Given the description of an element on the screen output the (x, y) to click on. 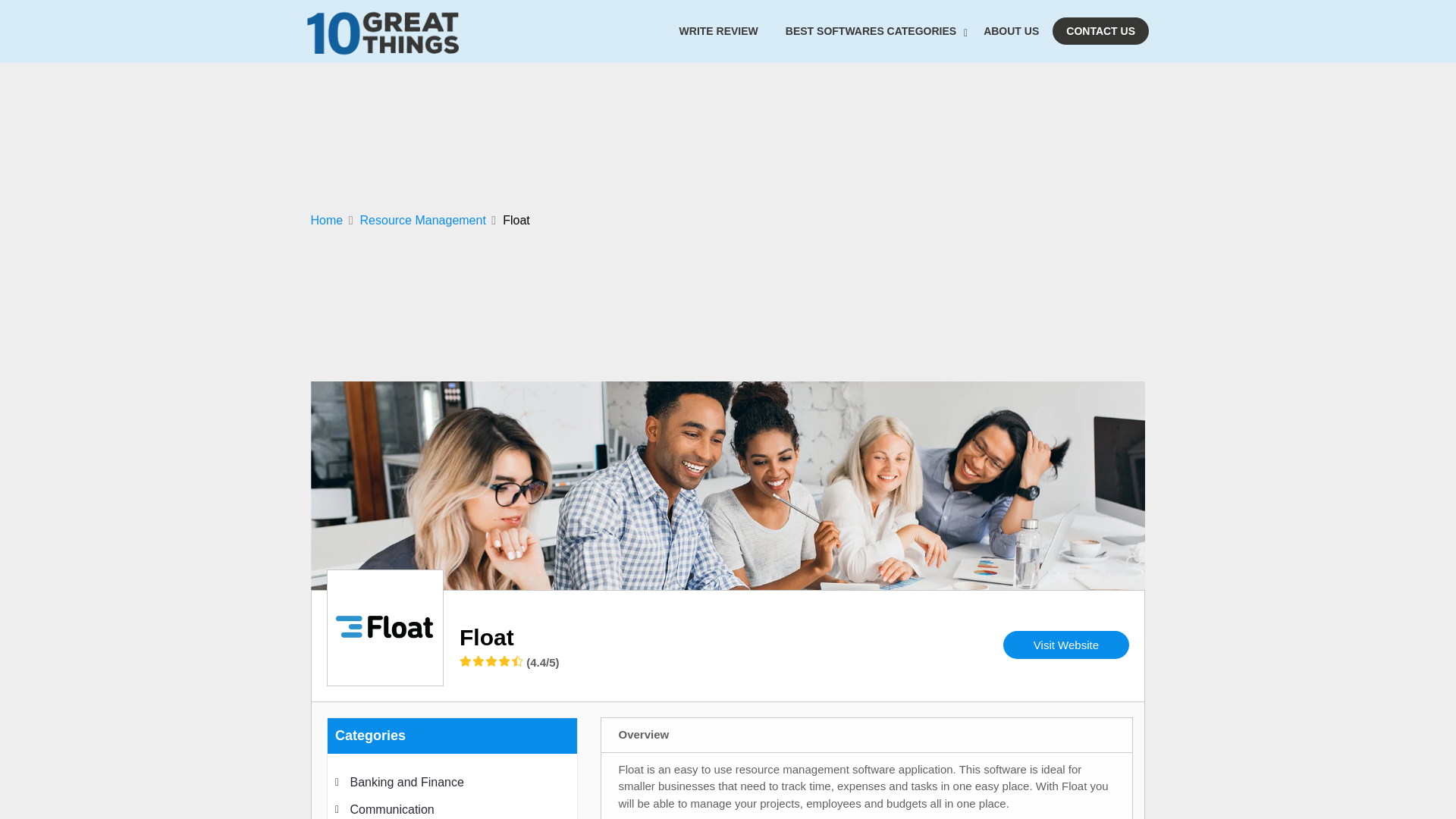
Visit Website (1066, 644)
10greatthings (382, 74)
Resource Management (427, 219)
BEST SOFTWARES CATEGORIES (870, 31)
Communication (391, 808)
ABOUT US (1010, 31)
Banking and Finance (407, 780)
Float (486, 637)
WRITE REVIEW (718, 31)
Home (332, 219)
